Given the description of an element on the screen output the (x, y) to click on. 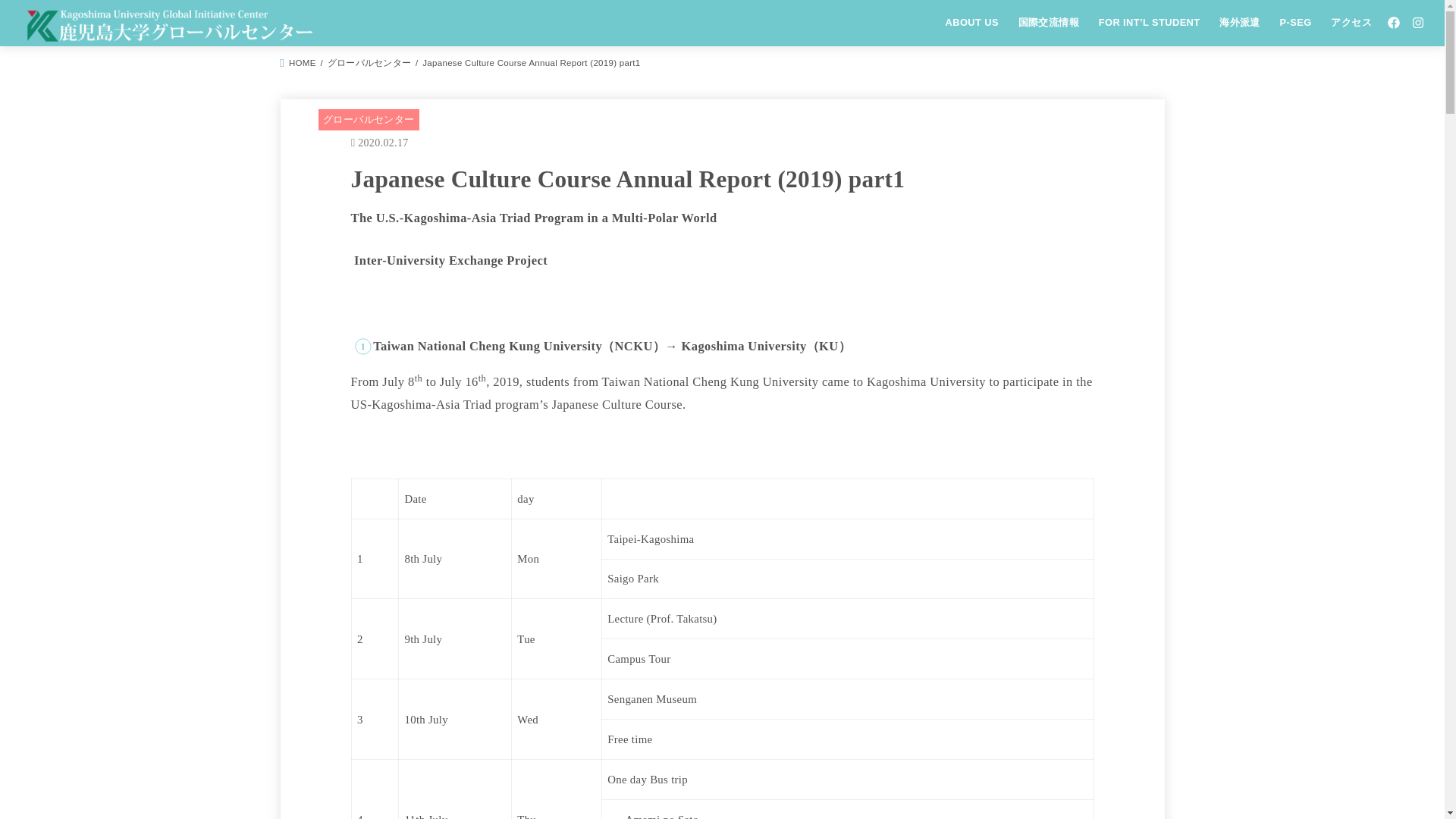
P-SEG (1295, 22)
ABOUT US (972, 22)
HOME (298, 62)
Facebook (1393, 22)
Instagram (1417, 22)
